Given the description of an element on the screen output the (x, y) to click on. 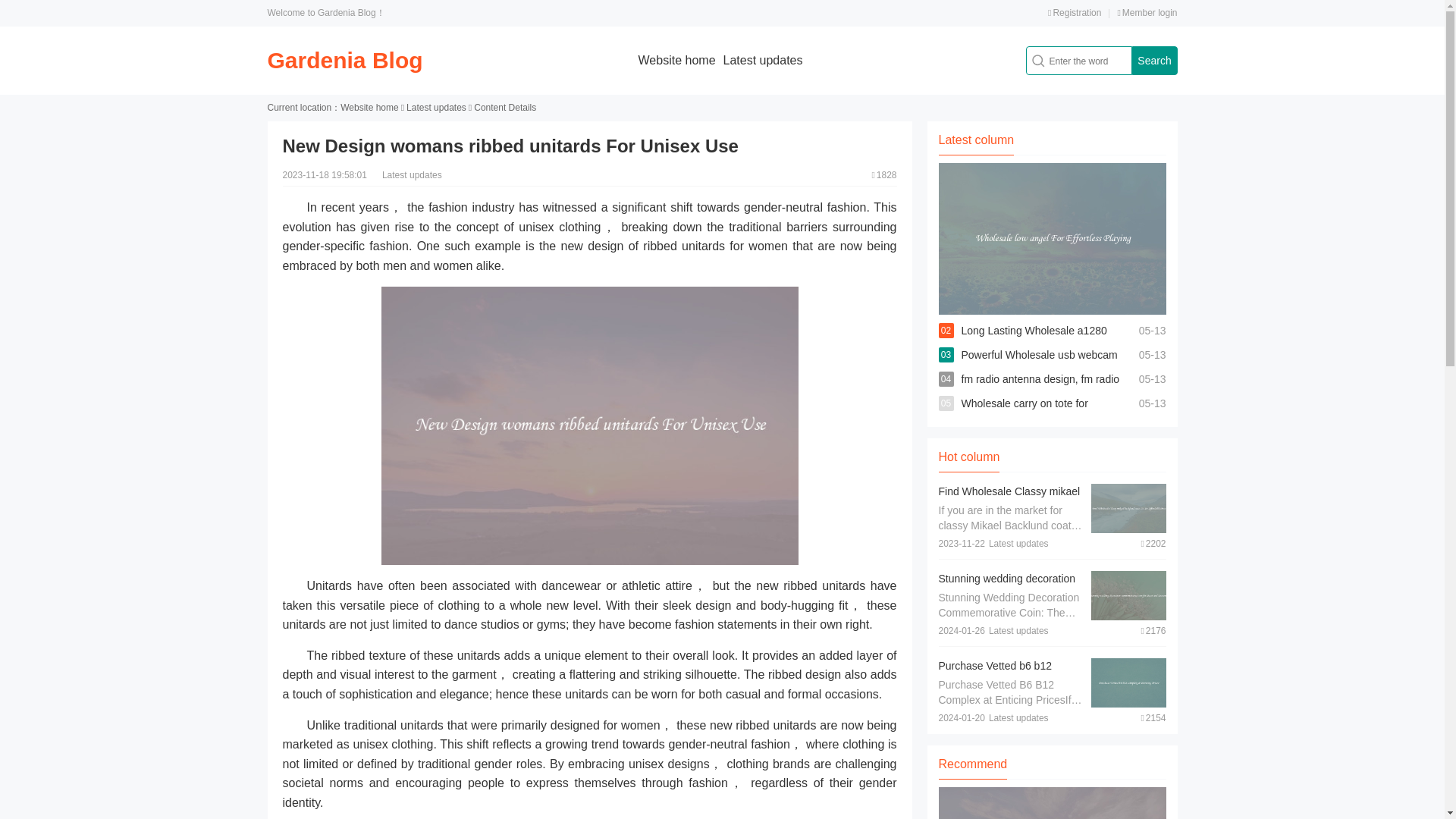
Latest updates (435, 107)
Purchase Vetted b6 b12 complex at Enticing Prices (1000, 673)
Wholesale carry on tote for Enjoyment During Trips (1023, 415)
Gardenia Blog (344, 59)
Member login (1146, 12)
Latest updates (763, 60)
